Given the description of an element on the screen output the (x, y) to click on. 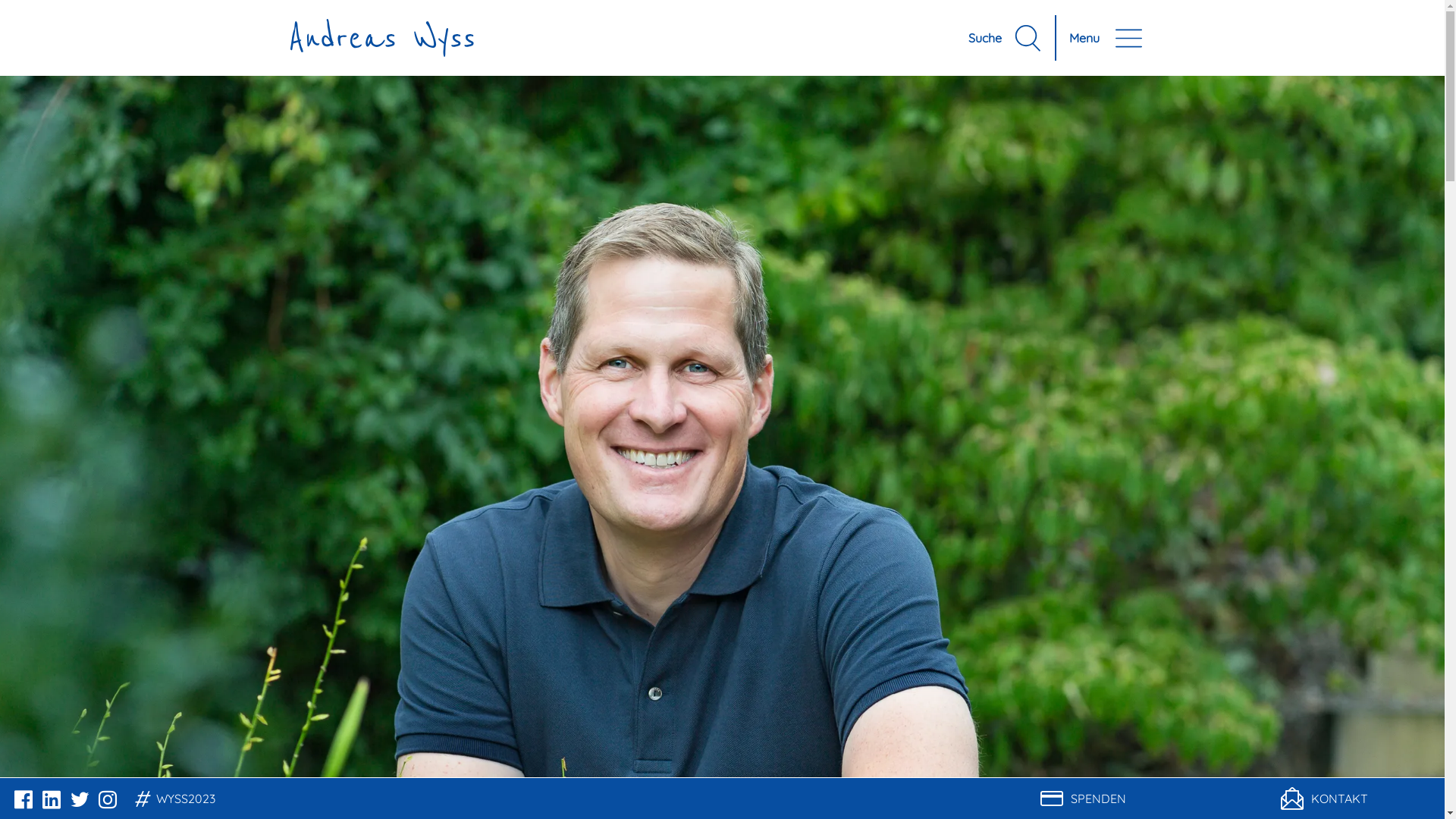
Suche Element type: text (1004, 37)
